Given the description of an element on the screen output the (x, y) to click on. 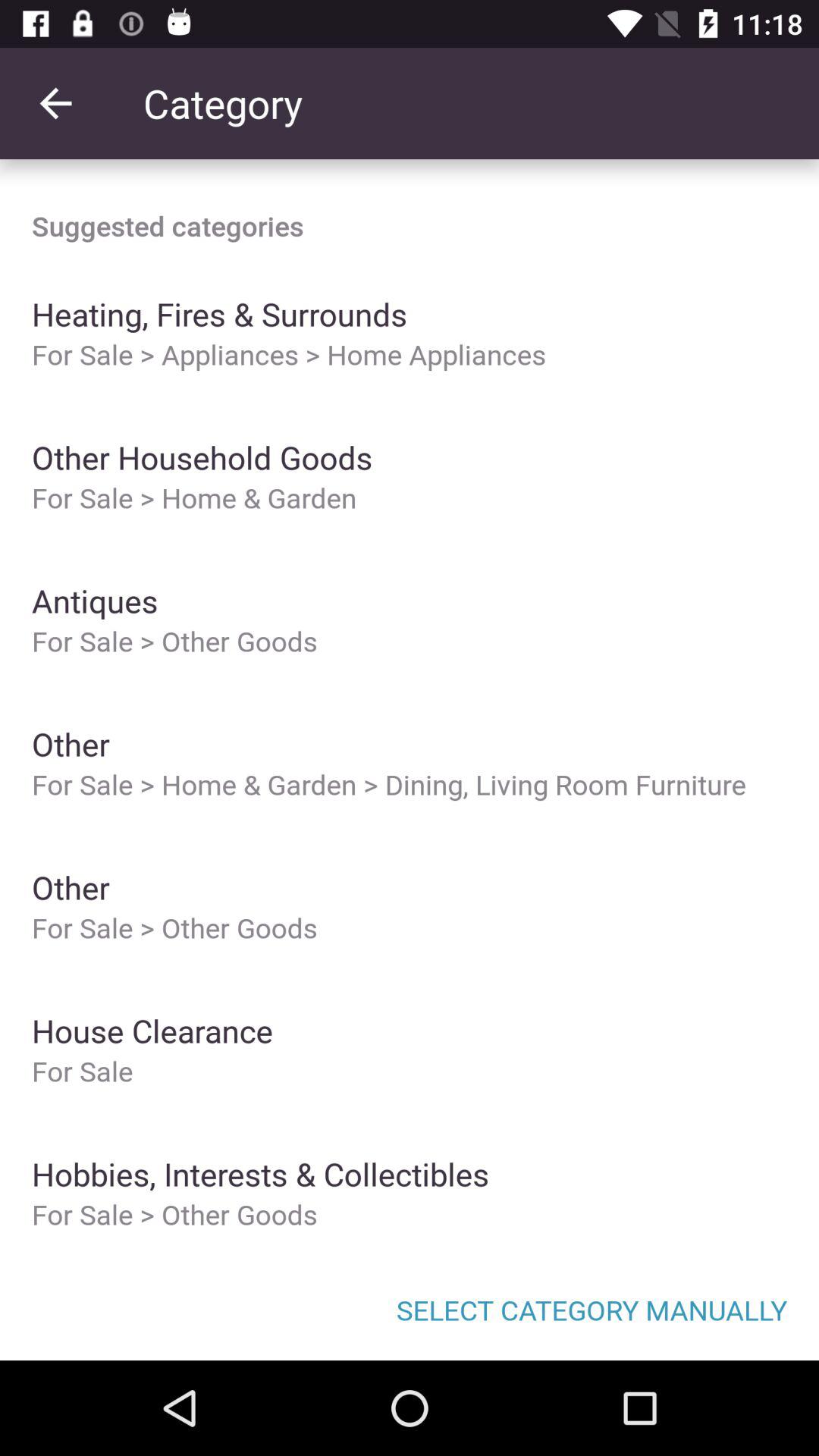
scroll until select category manually icon (409, 1309)
